Given the description of an element on the screen output the (x, y) to click on. 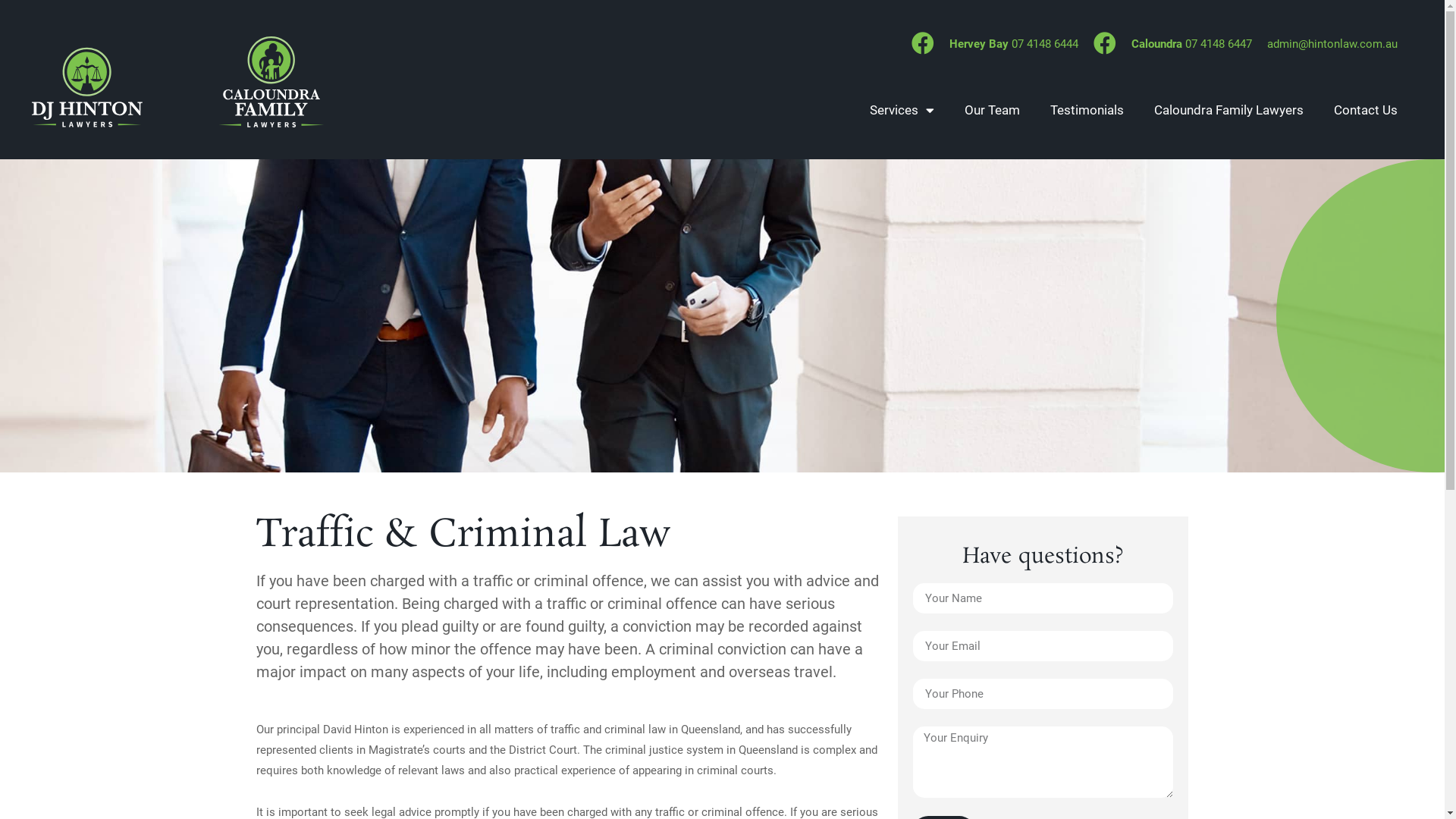
07 4148 6447 Element type: text (1218, 43)
Caloundra Family Lawyers Element type: text (1228, 109)
Services Element type: text (901, 109)
Our Team Element type: text (992, 109)
07 4148 6444 Element type: text (1044, 43)
Testimonials Element type: text (1087, 109)
Contact Us Element type: text (1365, 109)
admin@hintonlaw.com.au Element type: text (1332, 43)
